Given the description of an element on the screen output the (x, y) to click on. 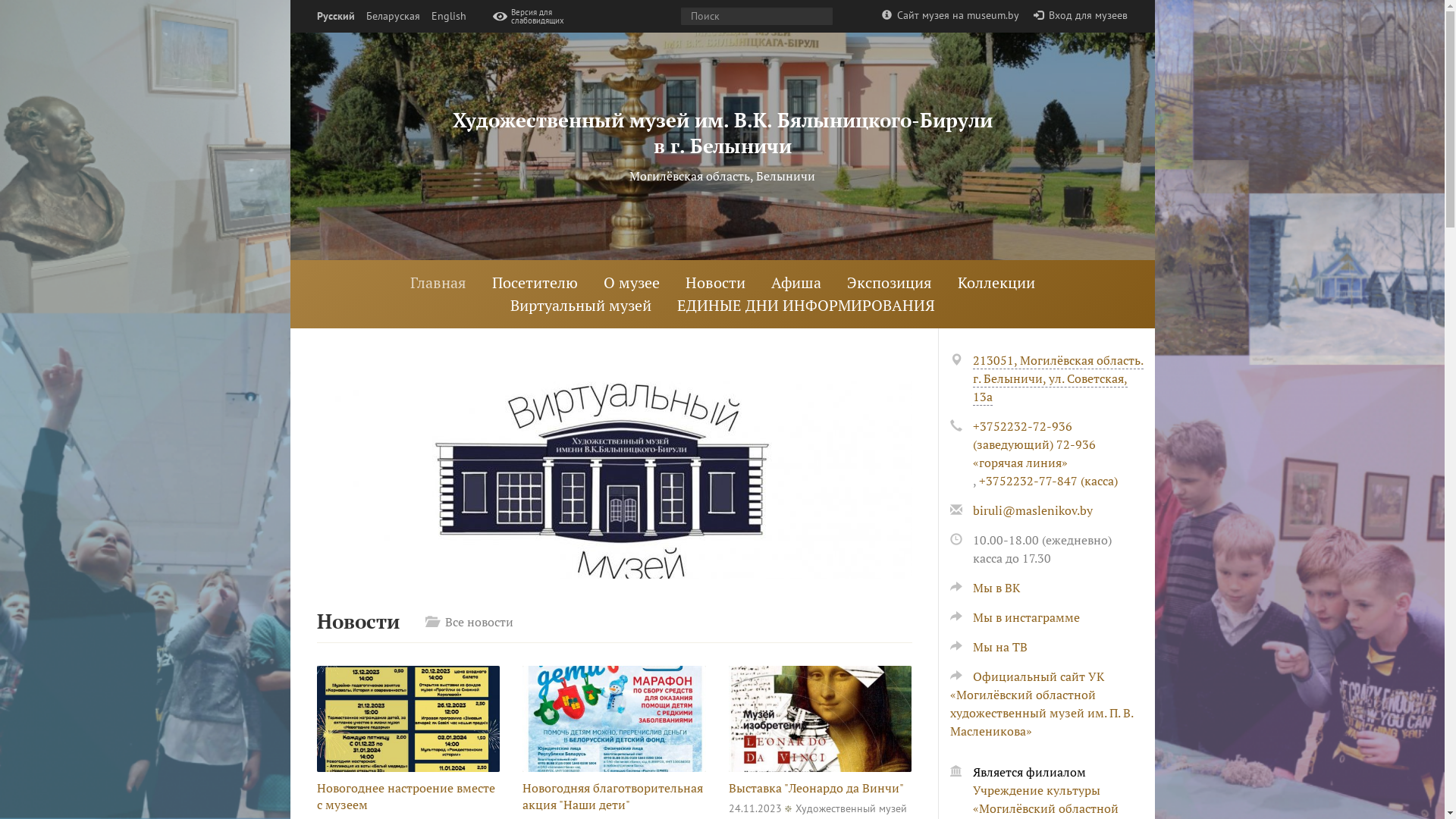
biruli@maslenikov.by Element type: text (1032, 510)
English Element type: text (447, 16)
